Given the description of an element on the screen output the (x, y) to click on. 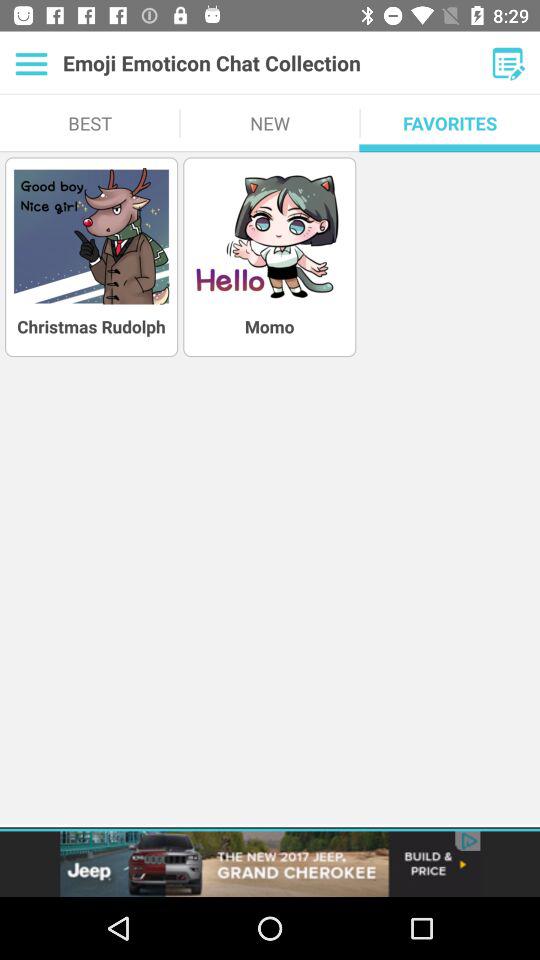
open menu (31, 63)
